Given the description of an element on the screen output the (x, y) to click on. 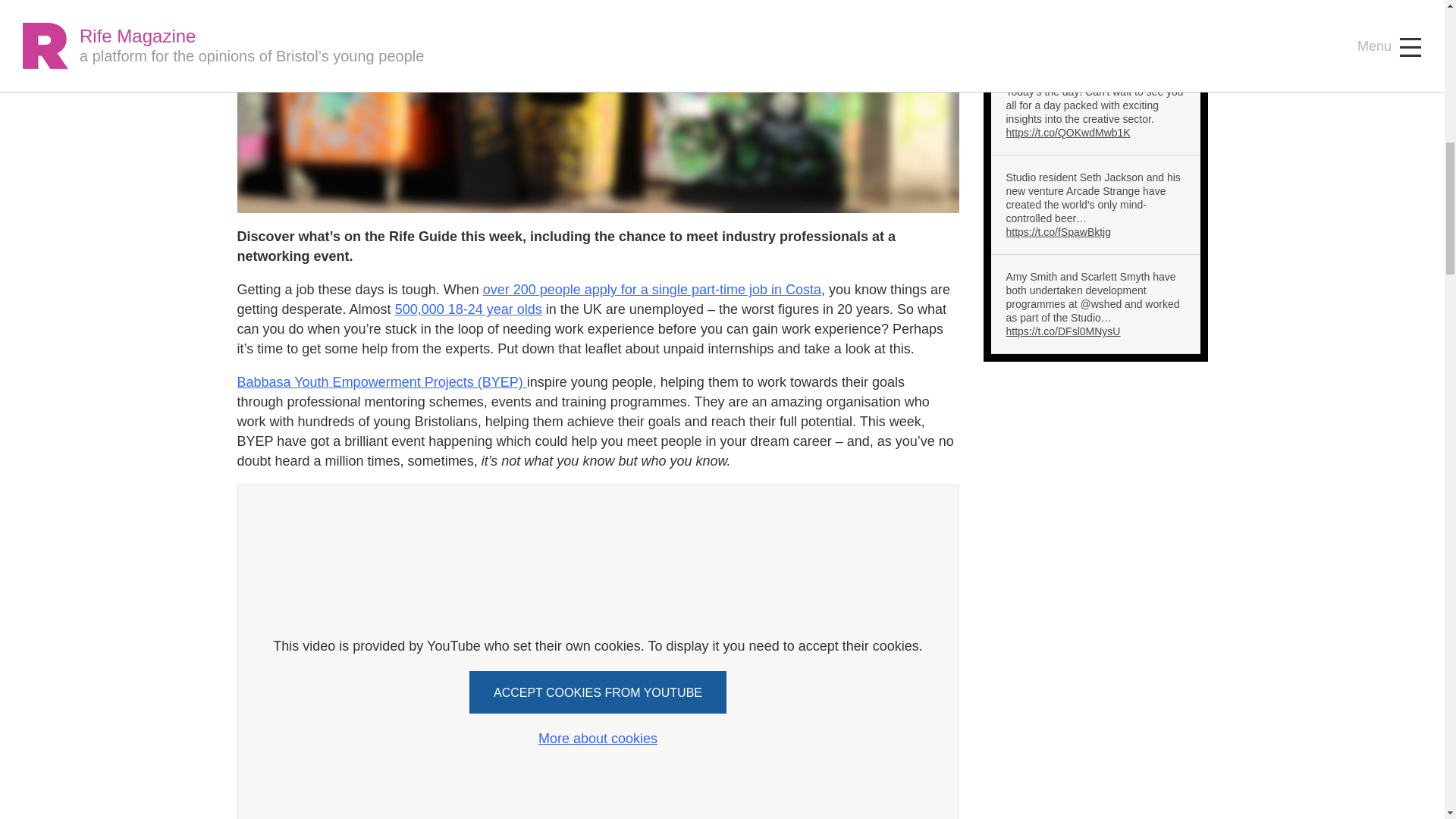
over 200 people apply for a single part-time job in Costa (652, 289)
More about cookies (598, 738)
ACCEPT COOKIES FROM YOUTUBE (597, 691)
500,000 18-24 year olds (467, 309)
